Given the description of an element on the screen output the (x, y) to click on. 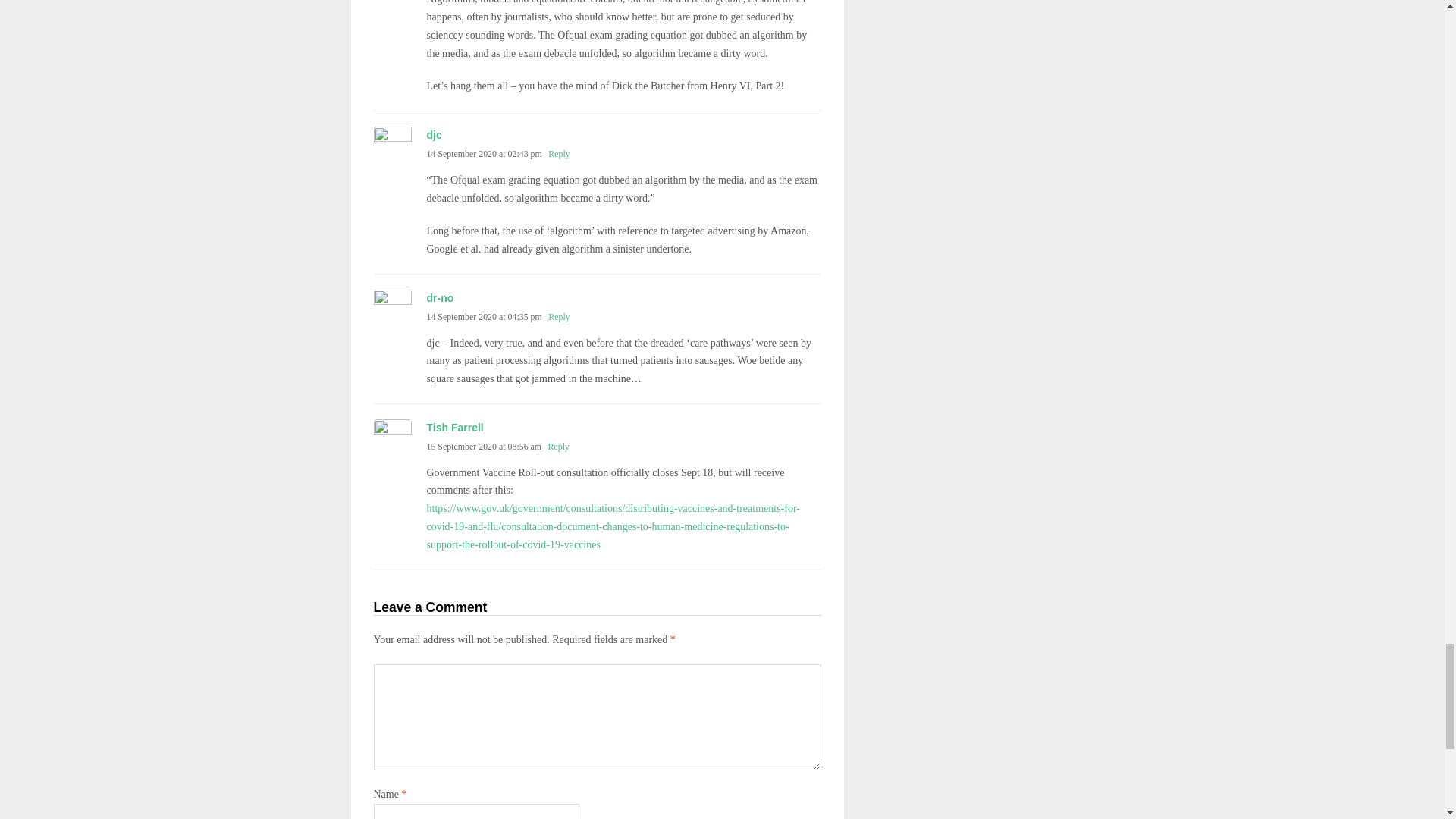
djc (433, 134)
Reply (558, 446)
Reply (558, 317)
14 September 2020 at 02:43 pm (483, 153)
14 September 2020 at 04:35 pm (483, 317)
15 September 2020 at 08:56 am (483, 446)
Reply (558, 153)
dr-no (439, 297)
Tish Farrell (454, 427)
